Given the description of an element on the screen output the (x, y) to click on. 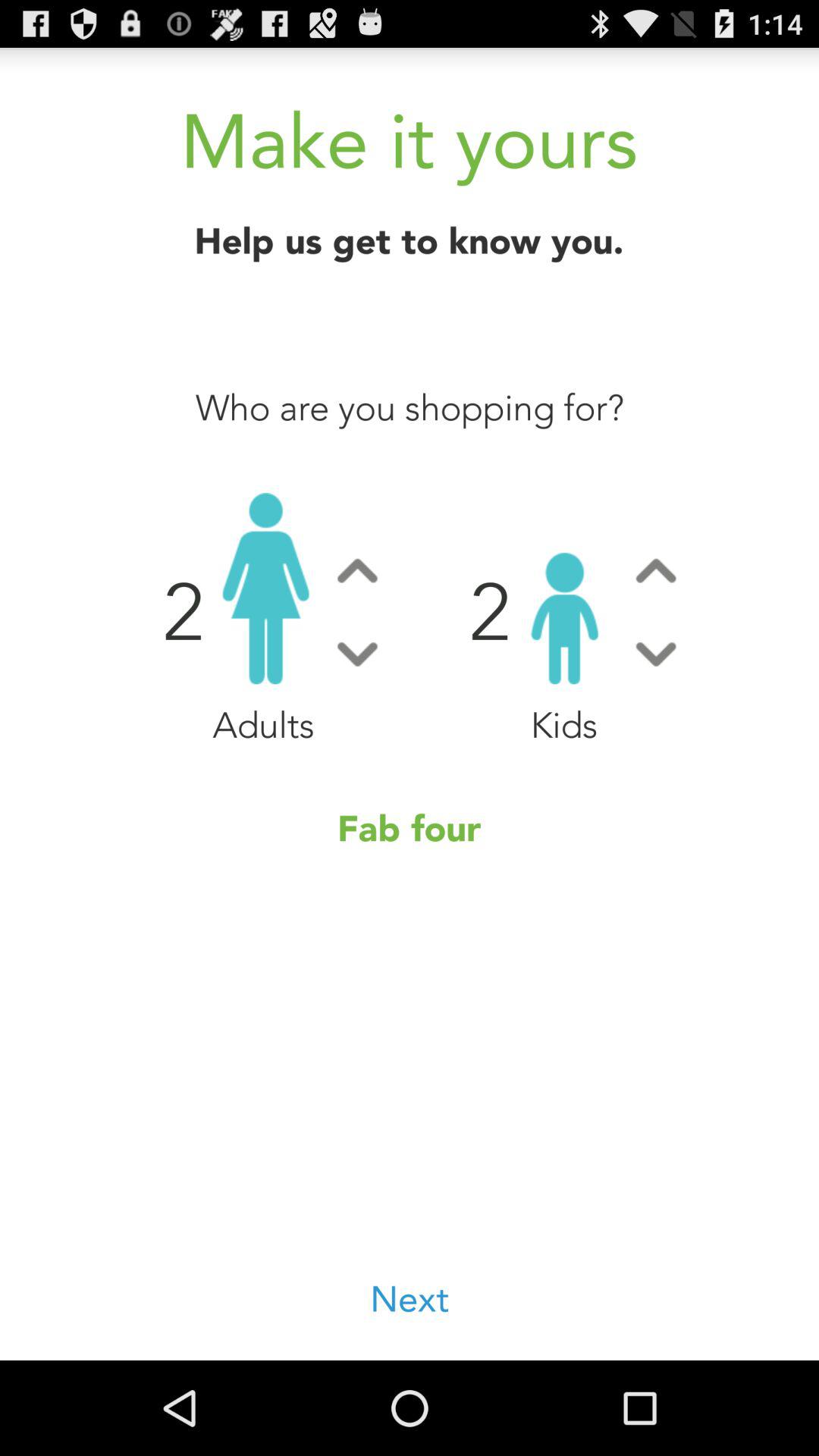
increase counter (655, 570)
